Given the description of an element on the screen output the (x, y) to click on. 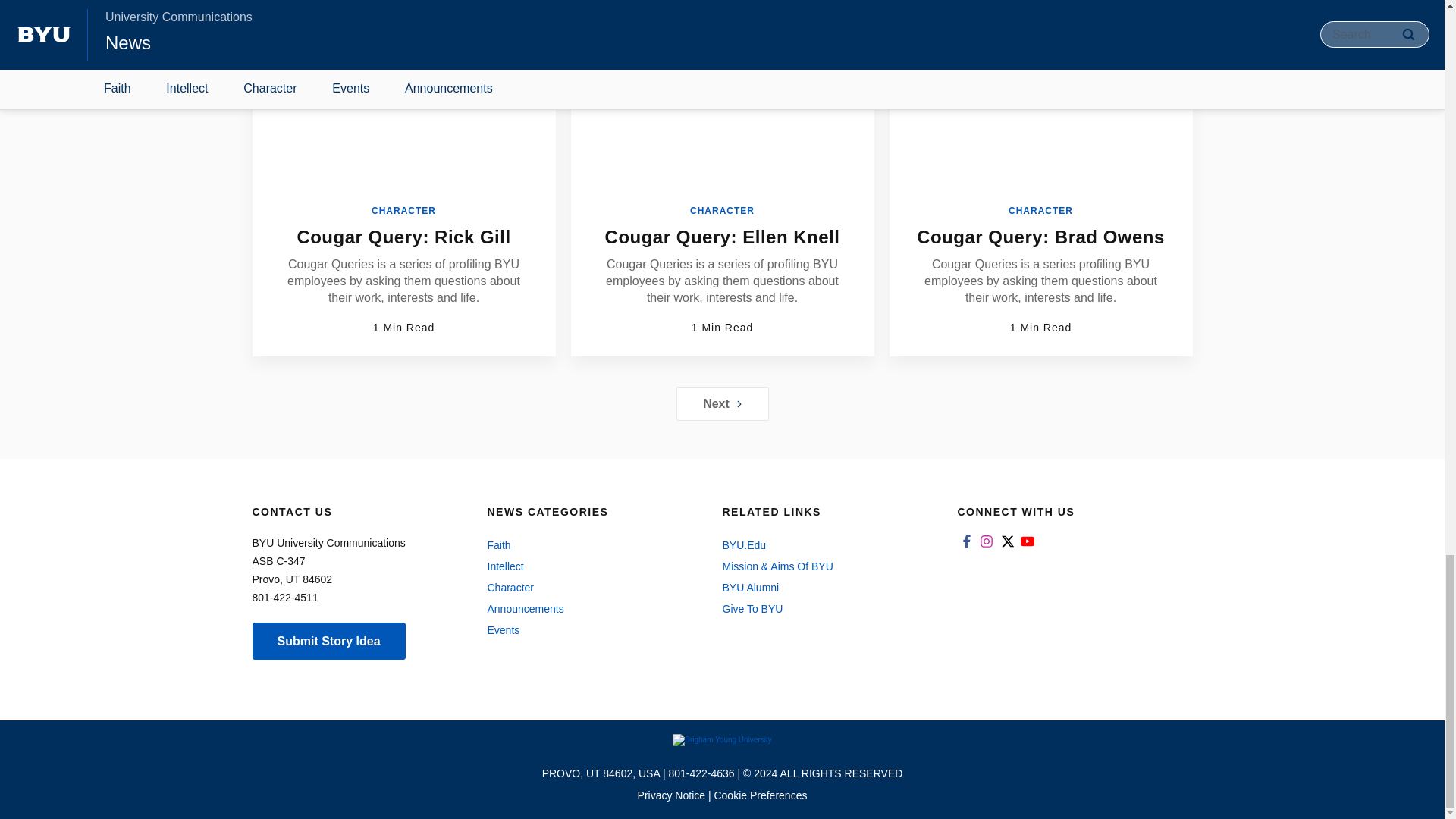
Events (588, 629)
Submit Story Idea (327, 641)
CHARACTER (1041, 210)
BYU.Edu (824, 545)
Cougar Query: Brad Owens (1040, 236)
Cougar Query: Rick Gill (404, 236)
BYU Alumni (824, 587)
Give To BYU (824, 608)
Next (722, 403)
Cougar Query: Ellen Knell (722, 236)
Faith (588, 545)
Link to twitter (1006, 540)
Intellect (588, 566)
Link to youtube (1026, 540)
Character (588, 587)
